Given the description of an element on the screen output the (x, y) to click on. 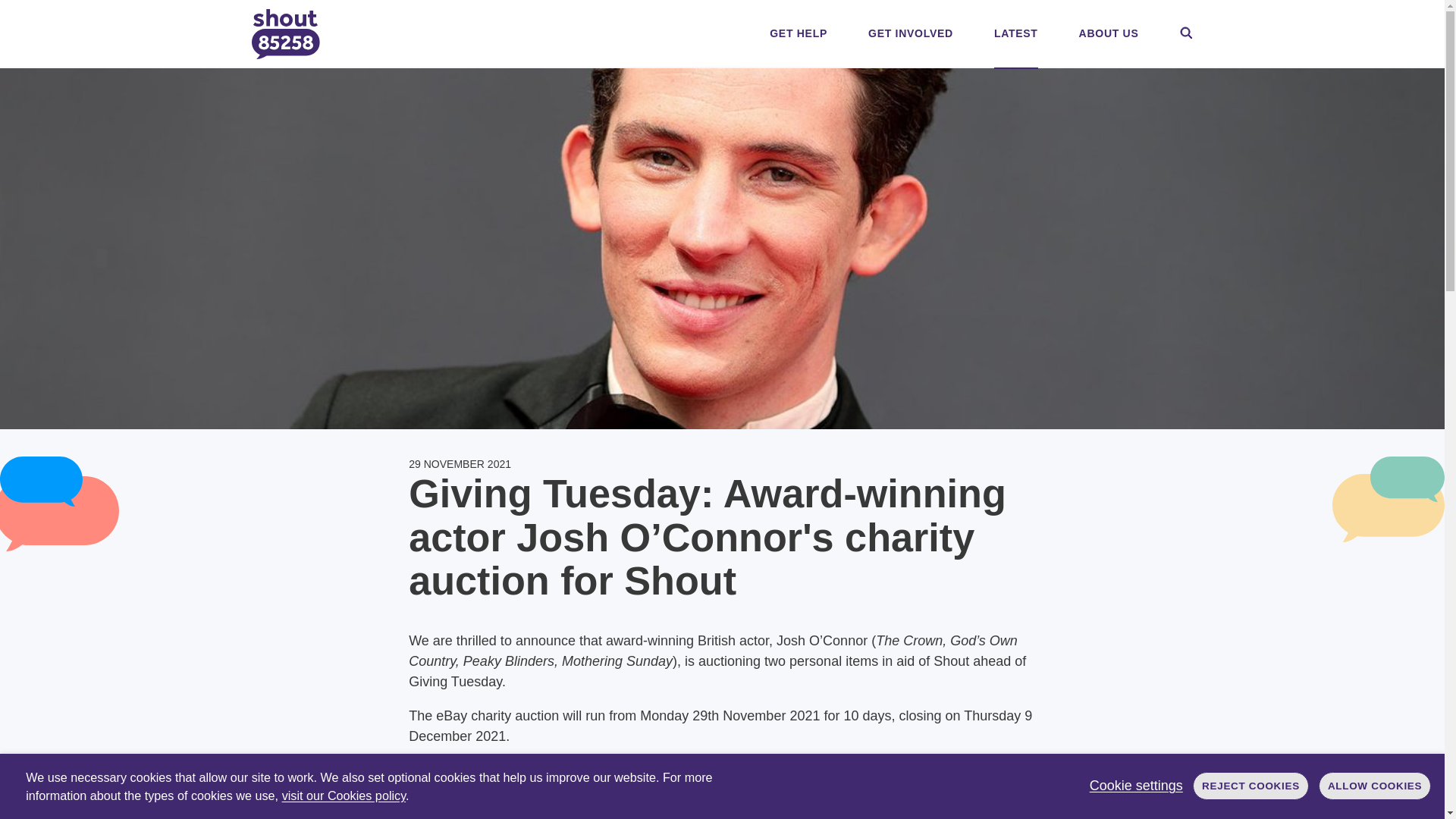
Cookie settings (1135, 785)
ALLOW COOKIES (1375, 786)
visit our Cookies policy (344, 795)
GET HELP (798, 33)
GET INVOLVED (910, 33)
ABOUT US (1108, 33)
REJECT COOKIES (1249, 786)
LATEST (1016, 33)
